Given the description of an element on the screen output the (x, y) to click on. 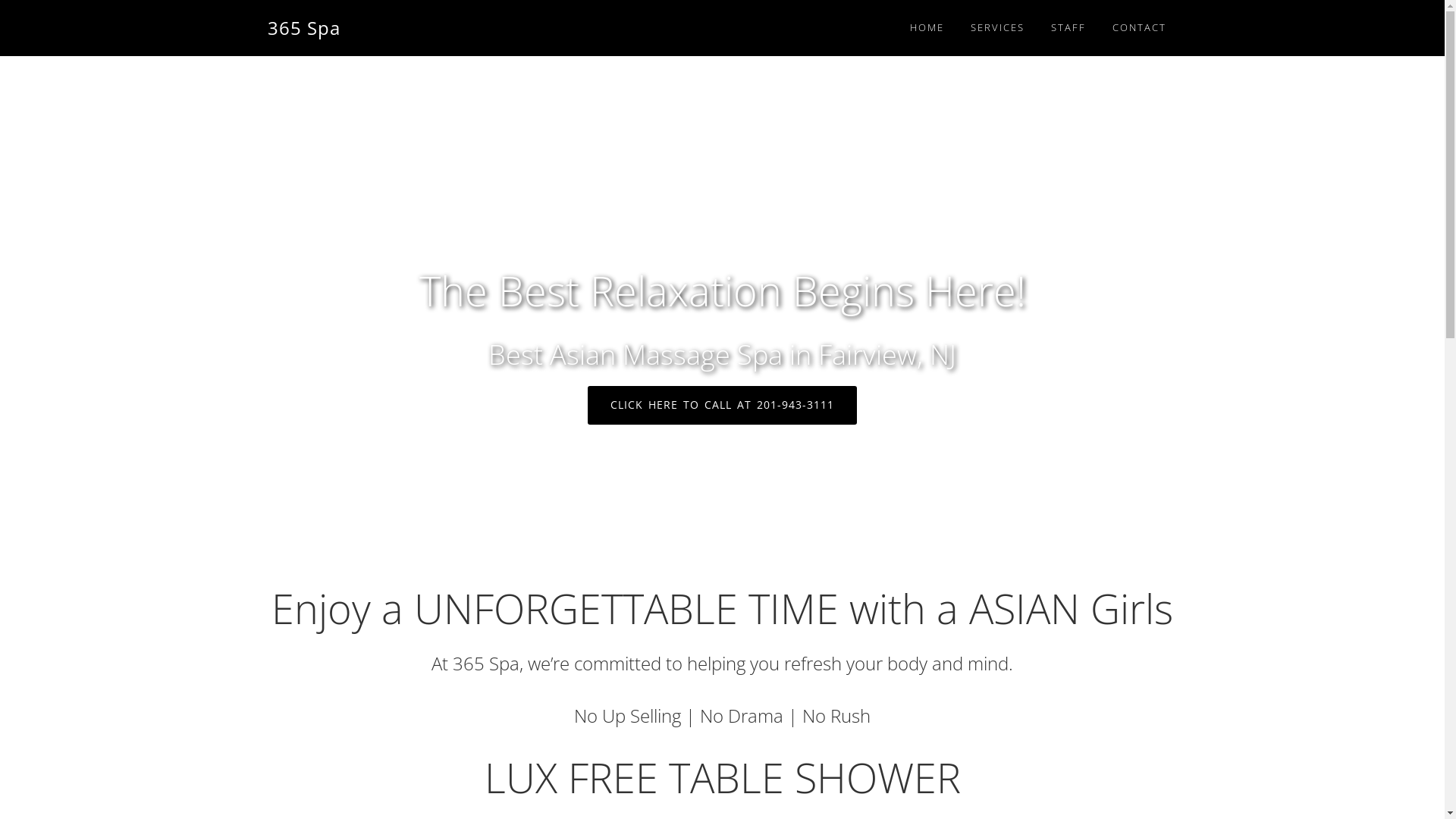
SERVICES Element type: text (996, 27)
Next (arrow right) Element type: hover (1417, 409)
CONTACT Element type: text (1139, 27)
365 Spa Element type: text (302, 27)
HOME Element type: text (925, 27)
CLICK HERE TO CALL AT 201-943-3111 Element type: text (721, 404)
Previous (arrow left) Element type: hover (26, 409)
Close (Esc) Element type: hover (1427, 16)
Share Element type: hover (1394, 16)
STAFF Element type: text (1067, 27)
Skip to primary navigation Element type: text (0, 0)
